Given the description of an element on the screen output the (x, y) to click on. 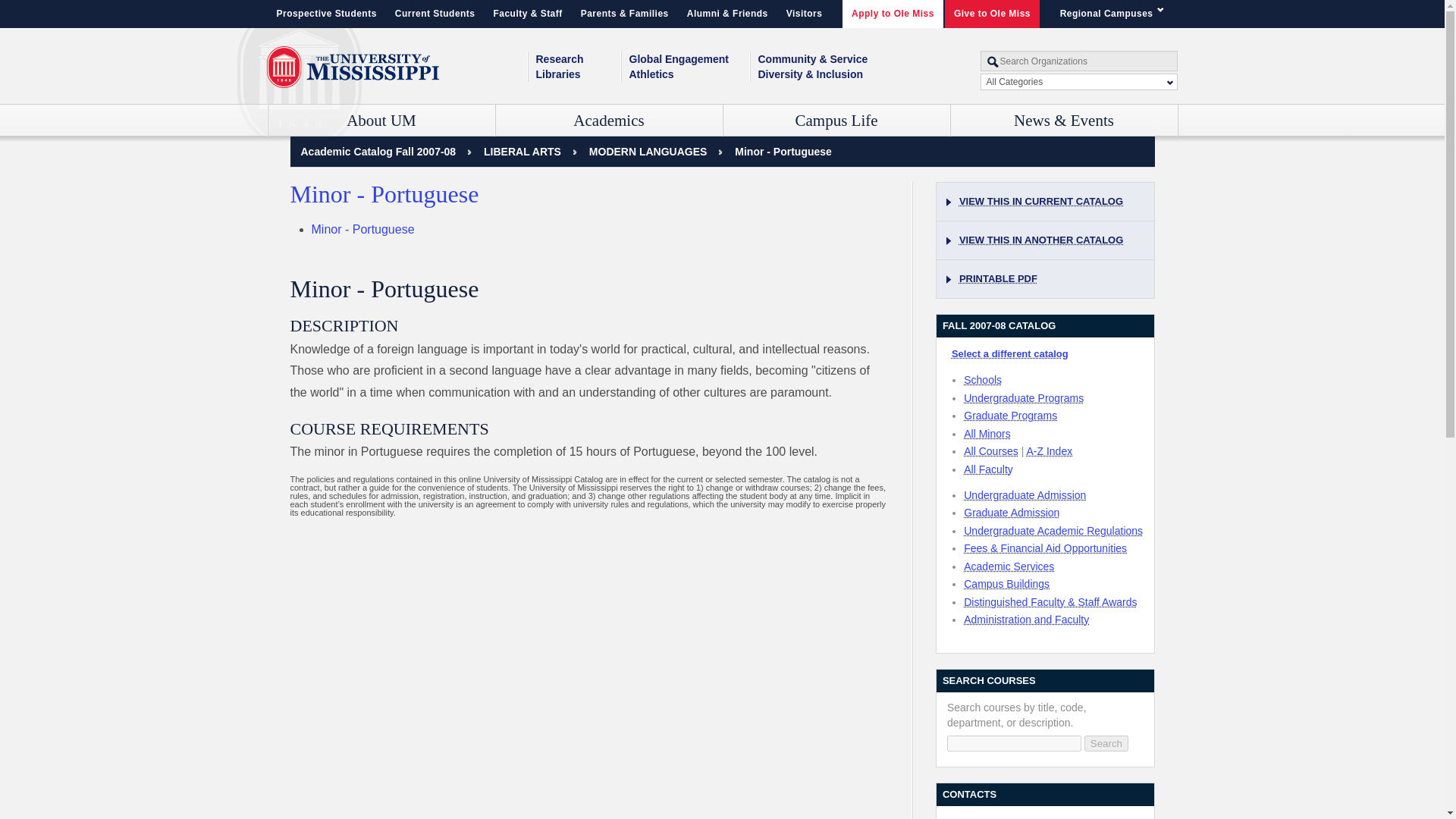
Regional Campuses (1114, 13)
Campus Life (836, 120)
MODERN LANGUAGES (648, 151)
COLLEGE OF LIBERAL ARTS (521, 151)
Research (577, 58)
About UM (381, 120)
Libraries (577, 73)
Current Students (434, 13)
Global Engagement (688, 58)
Visitors (804, 13)
Minor - Portuguese (783, 151)
Give to Ole Miss (991, 13)
Catalog home page (377, 151)
Search (1106, 743)
Apply to Ole Miss (893, 13)
